Given the description of an element on the screen output the (x, y) to click on. 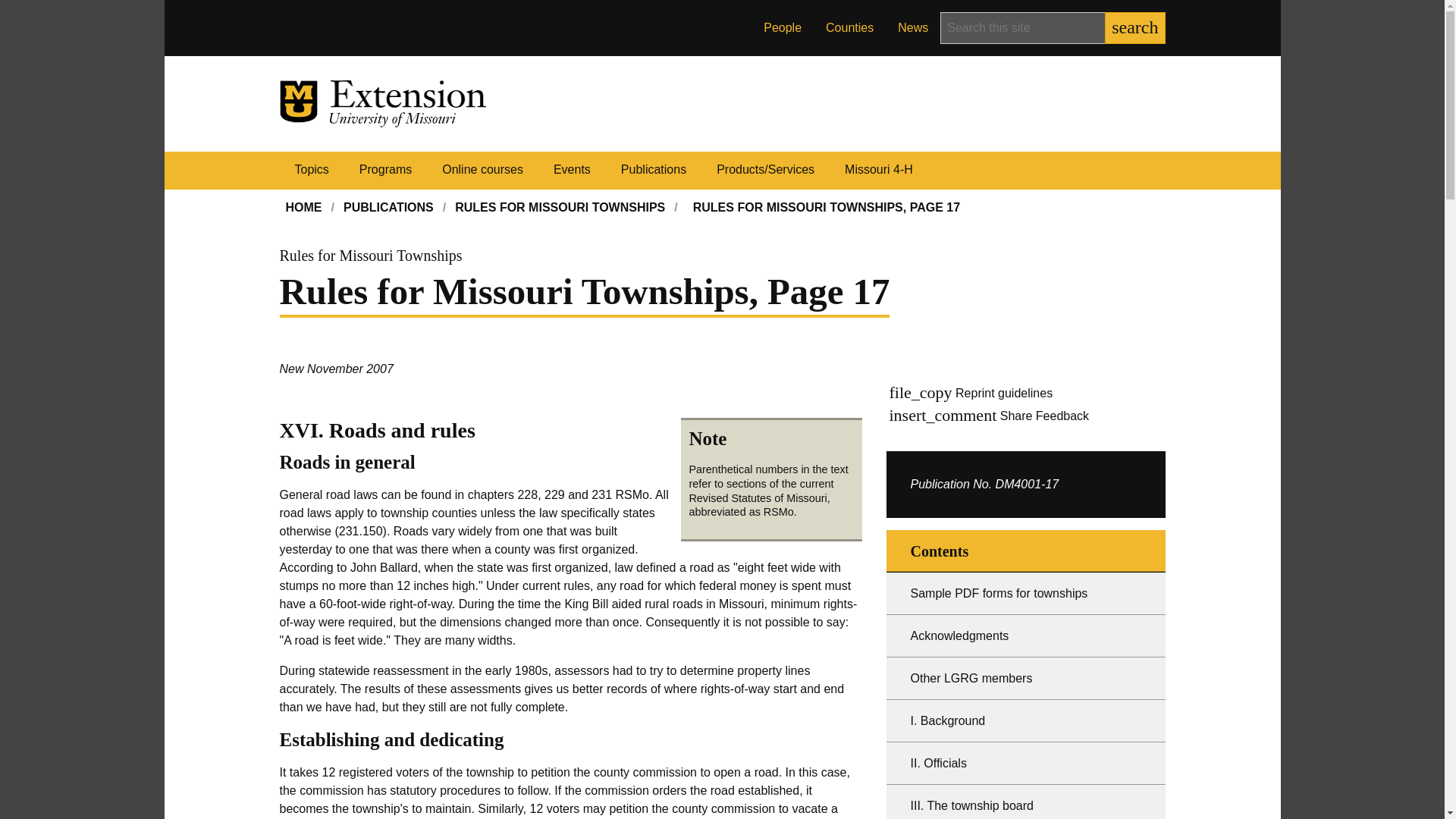
II. Officials (1024, 763)
Online courses (482, 170)
People (782, 28)
Share Feedback (1044, 416)
III. The township board (1024, 801)
News (912, 28)
HOME (303, 207)
Reprint guidelines (1003, 393)
Missouri 4-H (878, 170)
RULES FOR MISSOURI TOWNSHIPS, PAGE 17 (826, 207)
Sample PDF forms for townships (1024, 593)
Events (571, 170)
Missouri 4-H (878, 170)
Programs (384, 170)
Other LGRG members (1024, 678)
